Given the description of an element on the screen output the (x, y) to click on. 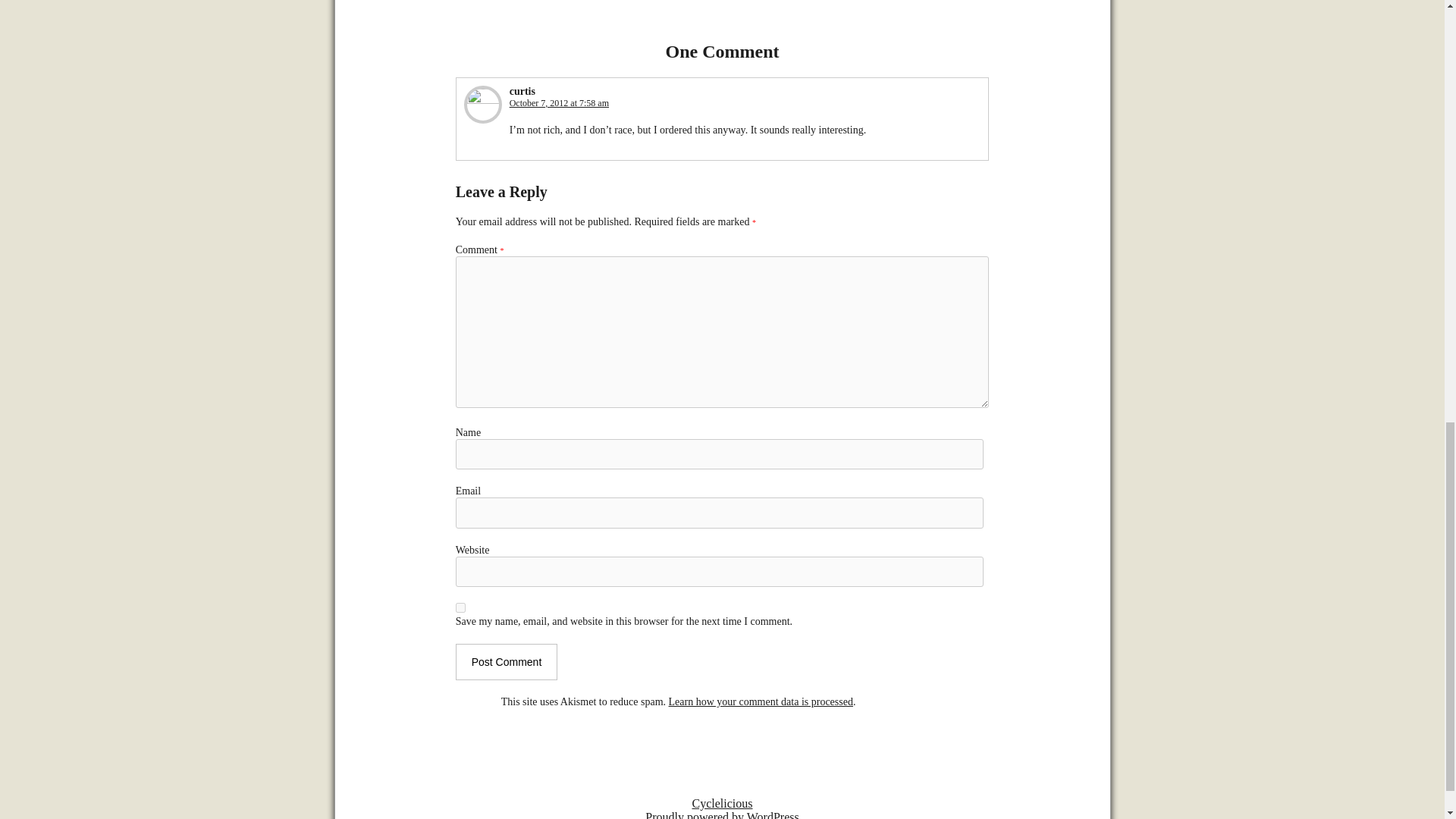
October 7, 2012 at 7:58 am (558, 102)
Post Comment (506, 661)
Cyclelicious (721, 802)
Learn how your comment data is processed (760, 701)
Post Comment (506, 661)
yes (460, 607)
